Given the description of an element on the screen output the (x, y) to click on. 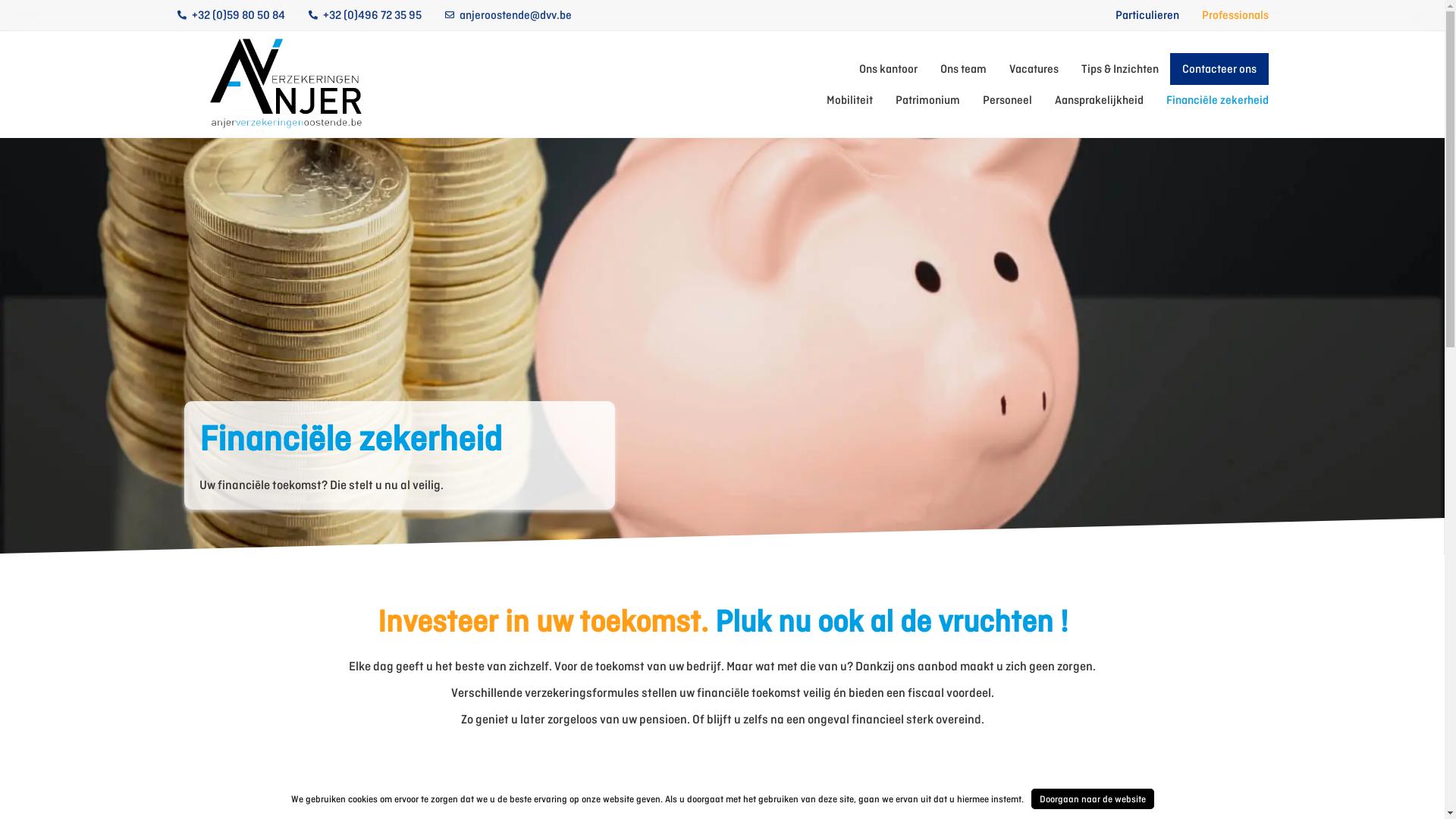
Patrimonium Element type: text (926, 99)
Particulieren Element type: text (1146, 15)
Doorgaan naar de website Element type: text (1092, 798)
anjeroostende@dvv.be Element type: text (507, 14)
Ons kantoor Element type: text (887, 68)
Aansprakelijkheid Element type: text (1098, 99)
Ons team Element type: text (963, 68)
Professionals Element type: text (1234, 15)
+32 (0)496 72 35 95 Element type: text (364, 14)
+32 (0)59 80 50 84 Element type: text (229, 14)
Personeel Element type: text (1007, 99)
Tips & Inzichten Element type: text (1119, 68)
Contacteer ons Element type: text (1218, 68)
Vacatures Element type: text (1032, 68)
Mobiliteit Element type: text (849, 99)
